Given the description of an element on the screen output the (x, y) to click on. 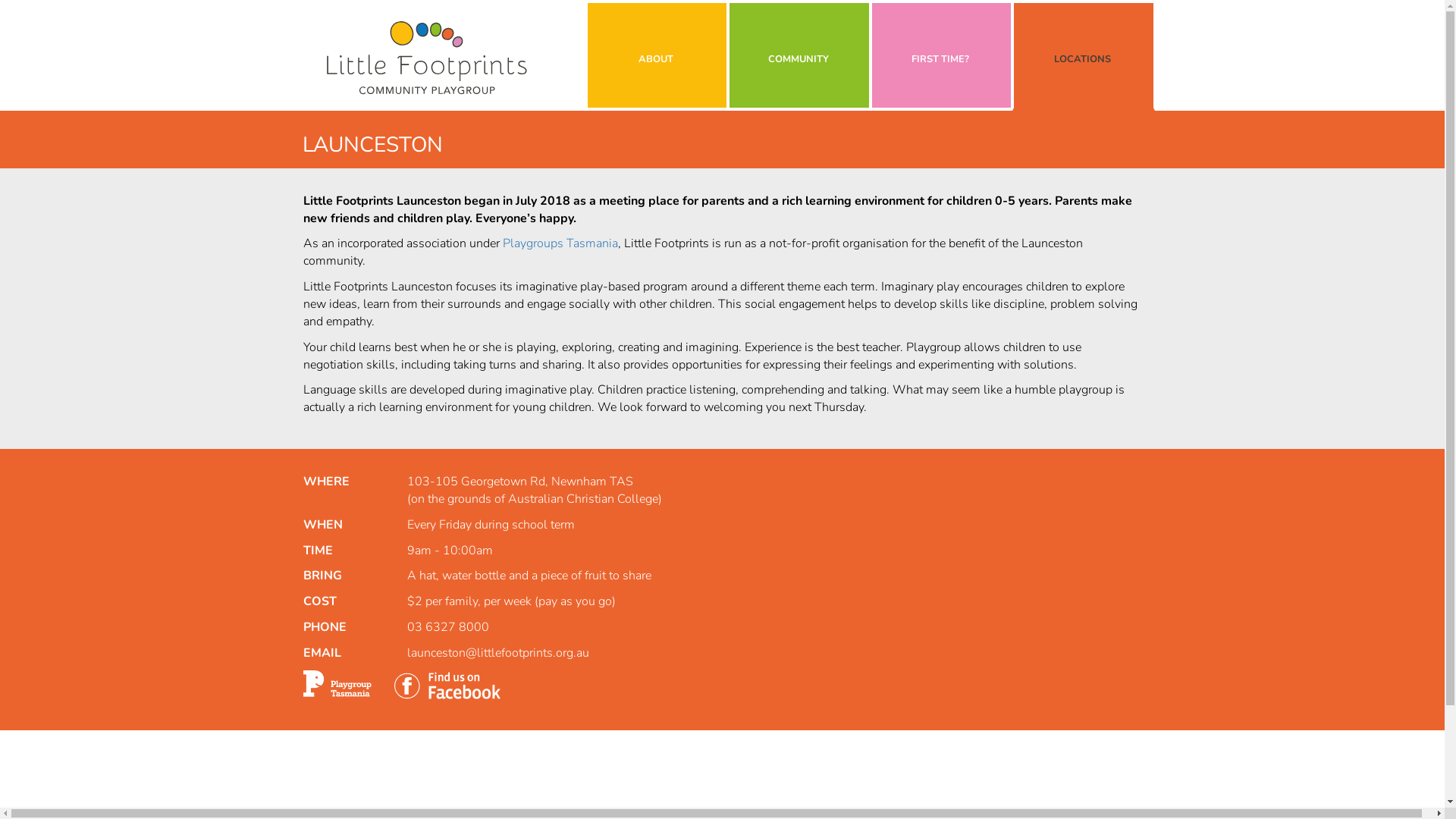
FIRST TIME? Element type: text (941, 55)
ABOUT Element type: text (655, 55)
LOCATIONS Element type: text (1082, 55)
COMMUNITY Element type: text (798, 55)
launceston@littlefootprints.org.au Element type: text (498, 652)
Playgroups Tasmania Element type: text (559, 243)
